Given the description of an element on the screen output the (x, y) to click on. 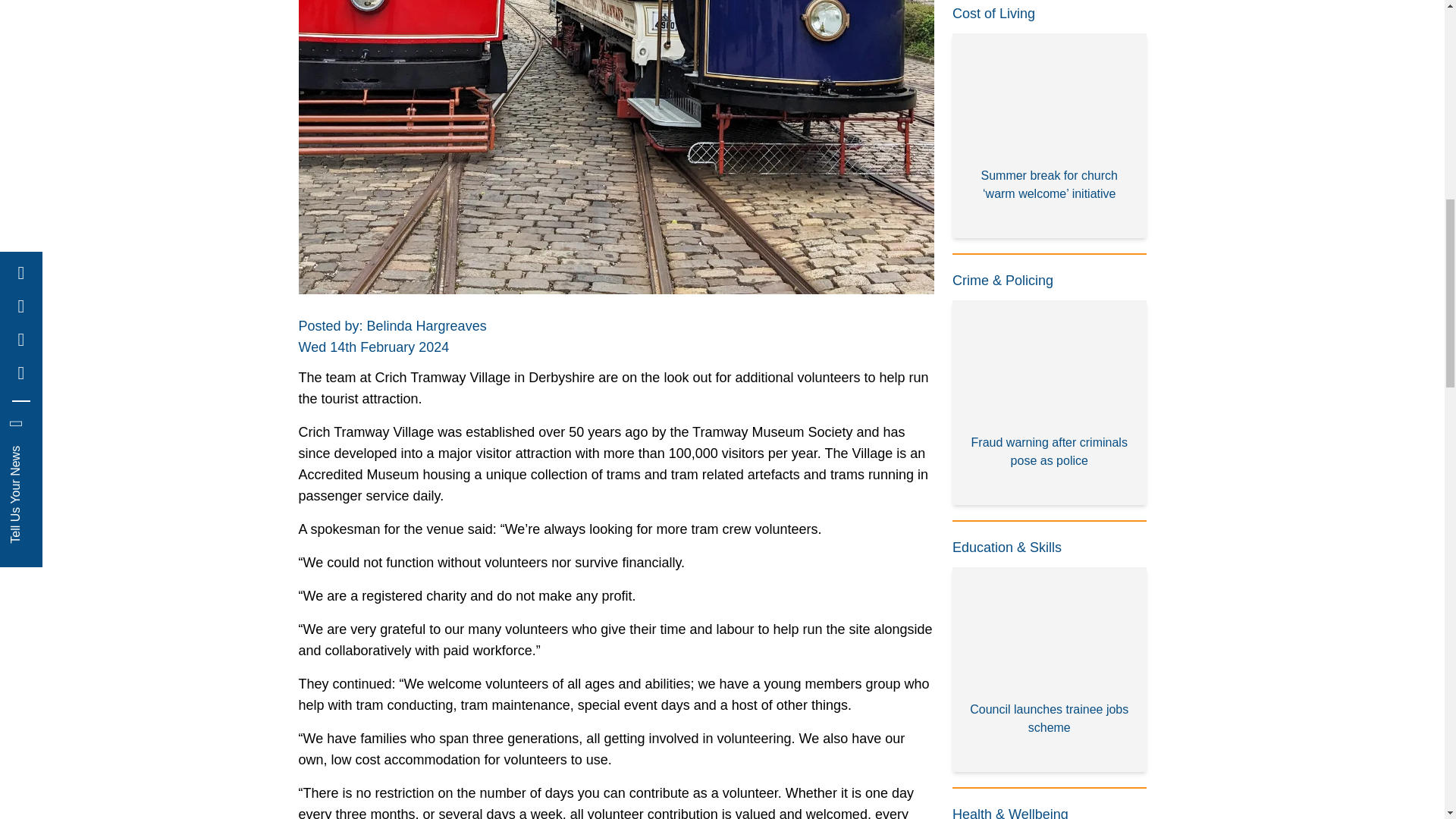
Council launches trainee jobs scheme (1049, 669)
Fraud warning after criminals pose as police (1049, 402)
